Given the description of an element on the screen output the (x, y) to click on. 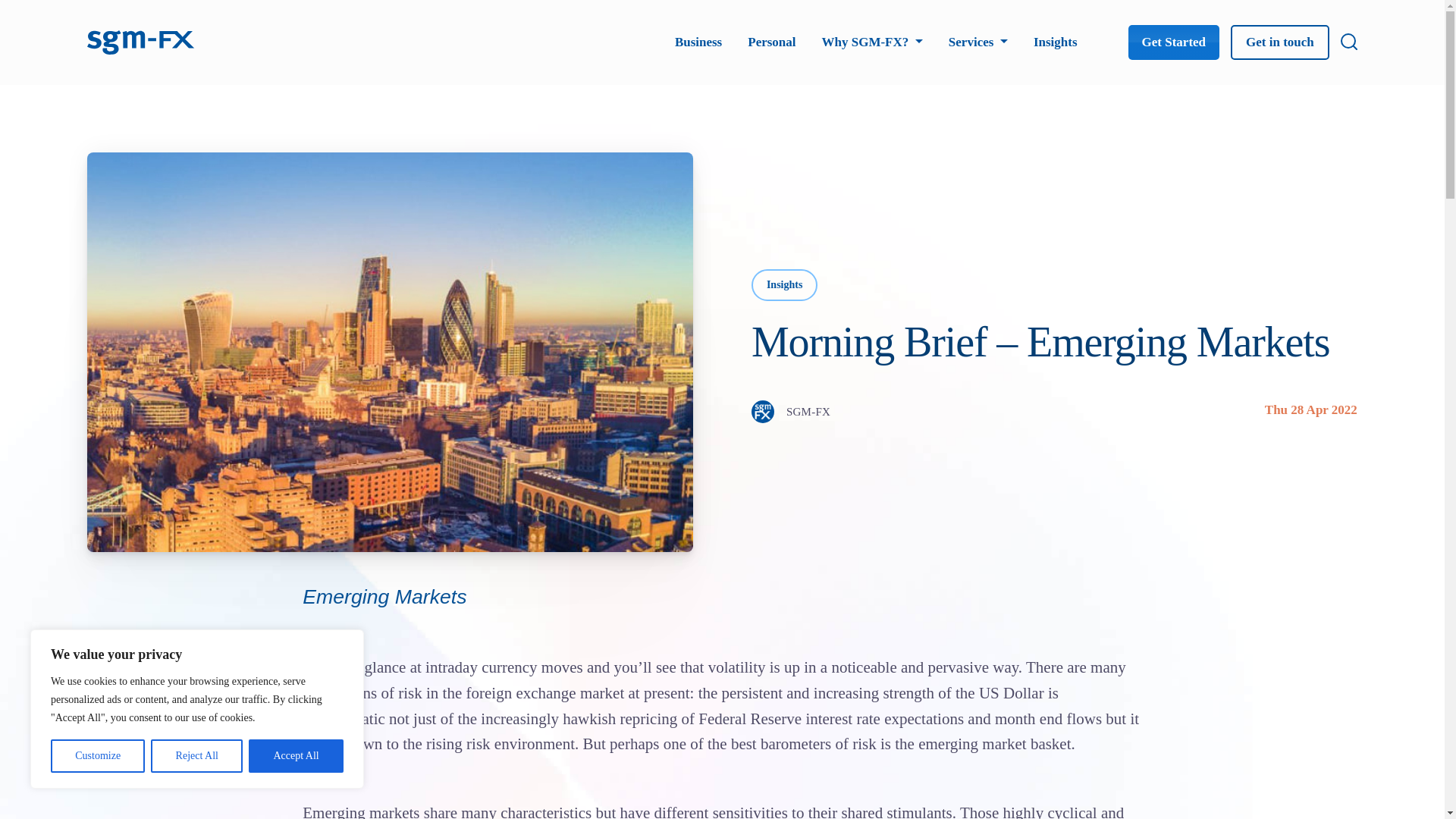
Accept All (295, 756)
Insights (1055, 42)
Why SGM-FX? (872, 42)
Get in touch (1279, 42)
Services (978, 42)
Personal (771, 42)
Customize (97, 756)
Why SGM-FX? (872, 42)
Get Started (1174, 42)
SGM-FX Innovative Foreign Exchange Services (141, 40)
Insights (1055, 42)
Reject All (197, 756)
Business (698, 42)
Business (698, 42)
Personal (771, 42)
